Given the description of an element on the screen output the (x, y) to click on. 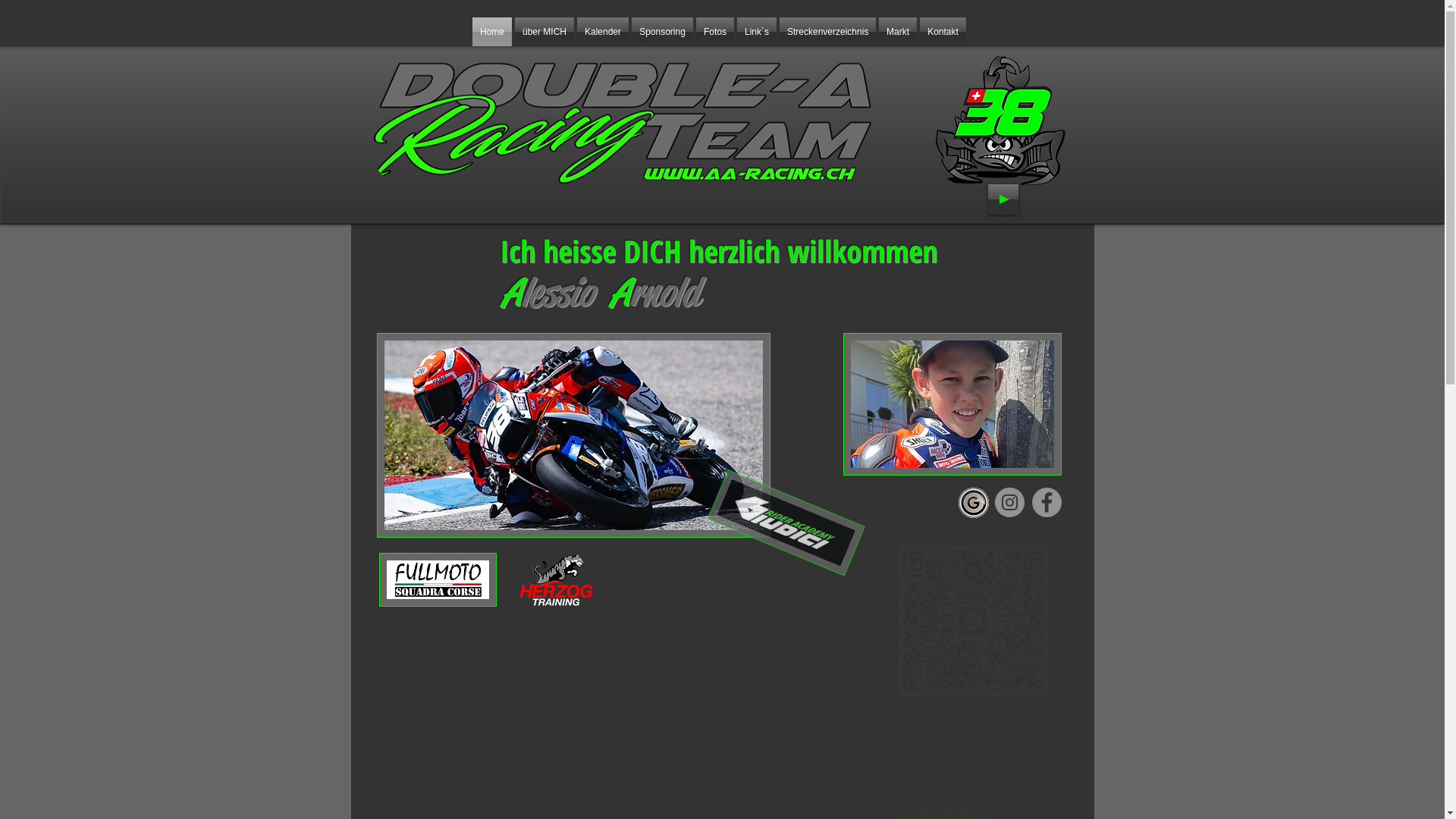
Kontakt Element type: text (942, 31)
Link`s Element type: text (756, 31)
Streckenverzeichnis Element type: text (827, 31)
Kalender Element type: text (602, 31)
Home Element type: text (491, 31)
